Given the description of an element on the screen output the (x, y) to click on. 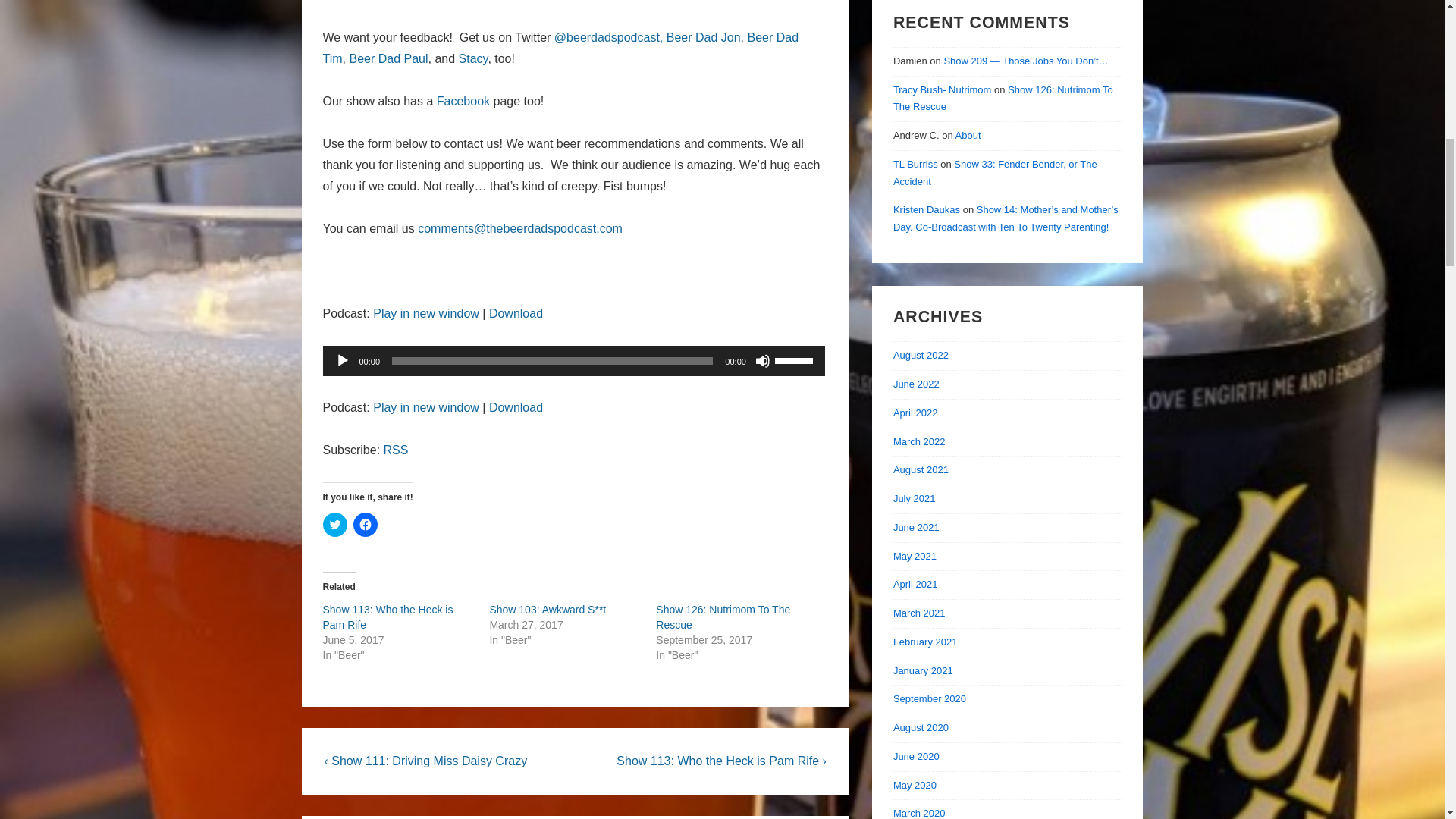
Click to share on Twitter (335, 524)
Beer Dad Jon (703, 37)
Beer Dad Tim (561, 48)
Play (342, 360)
Play in new window (425, 313)
Download (516, 407)
Stacy (472, 58)
Show 113: Who the Heck is Pam Rife (387, 616)
Show 126:  Nutrimom To The Rescue (723, 616)
Play in new window (425, 407)
